Given the description of an element on the screen output the (x, y) to click on. 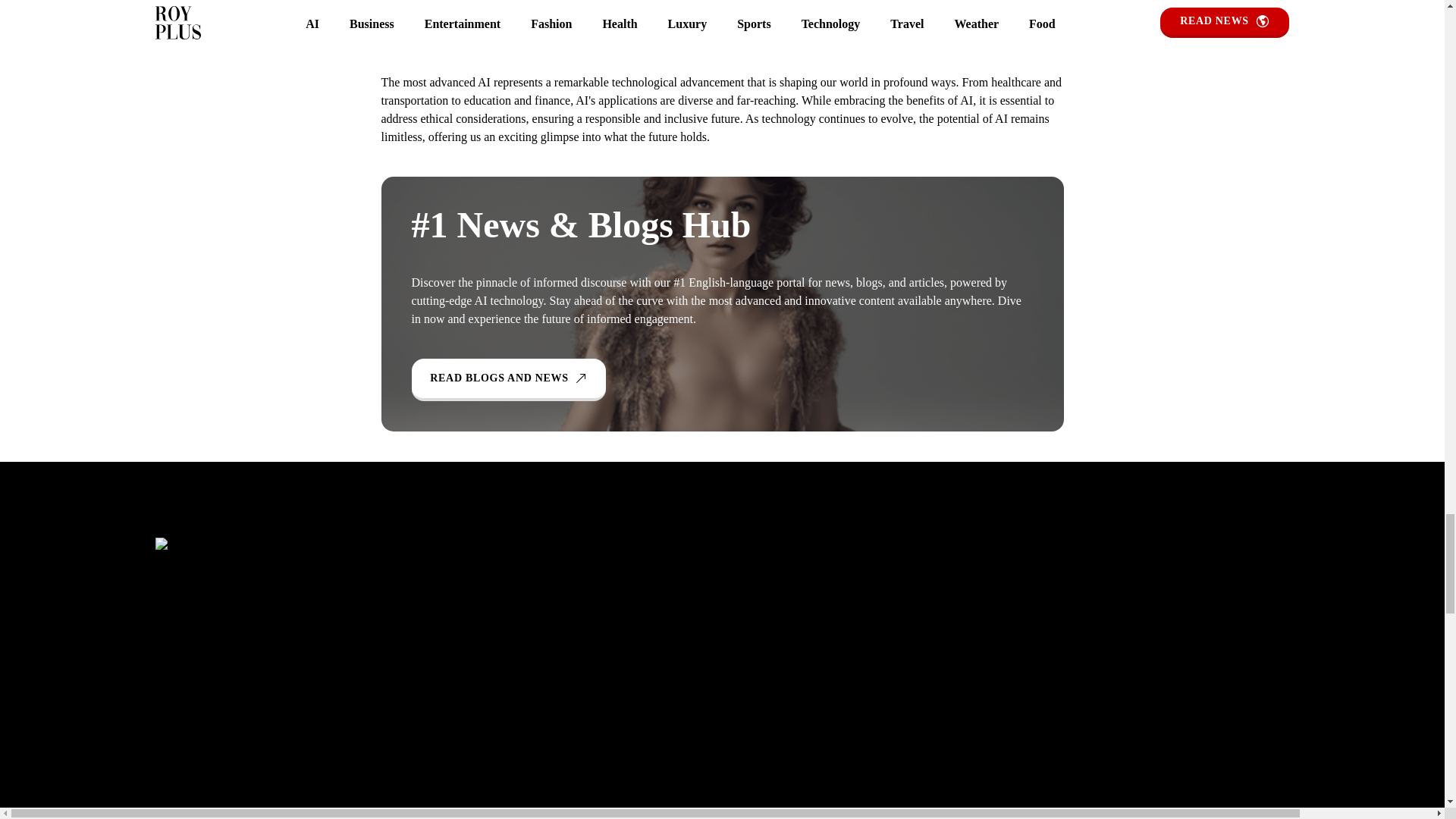
Read Blogs And News (507, 379)
READ BLOGS AND NEWS (507, 379)
